Given the description of an element on the screen output the (x, y) to click on. 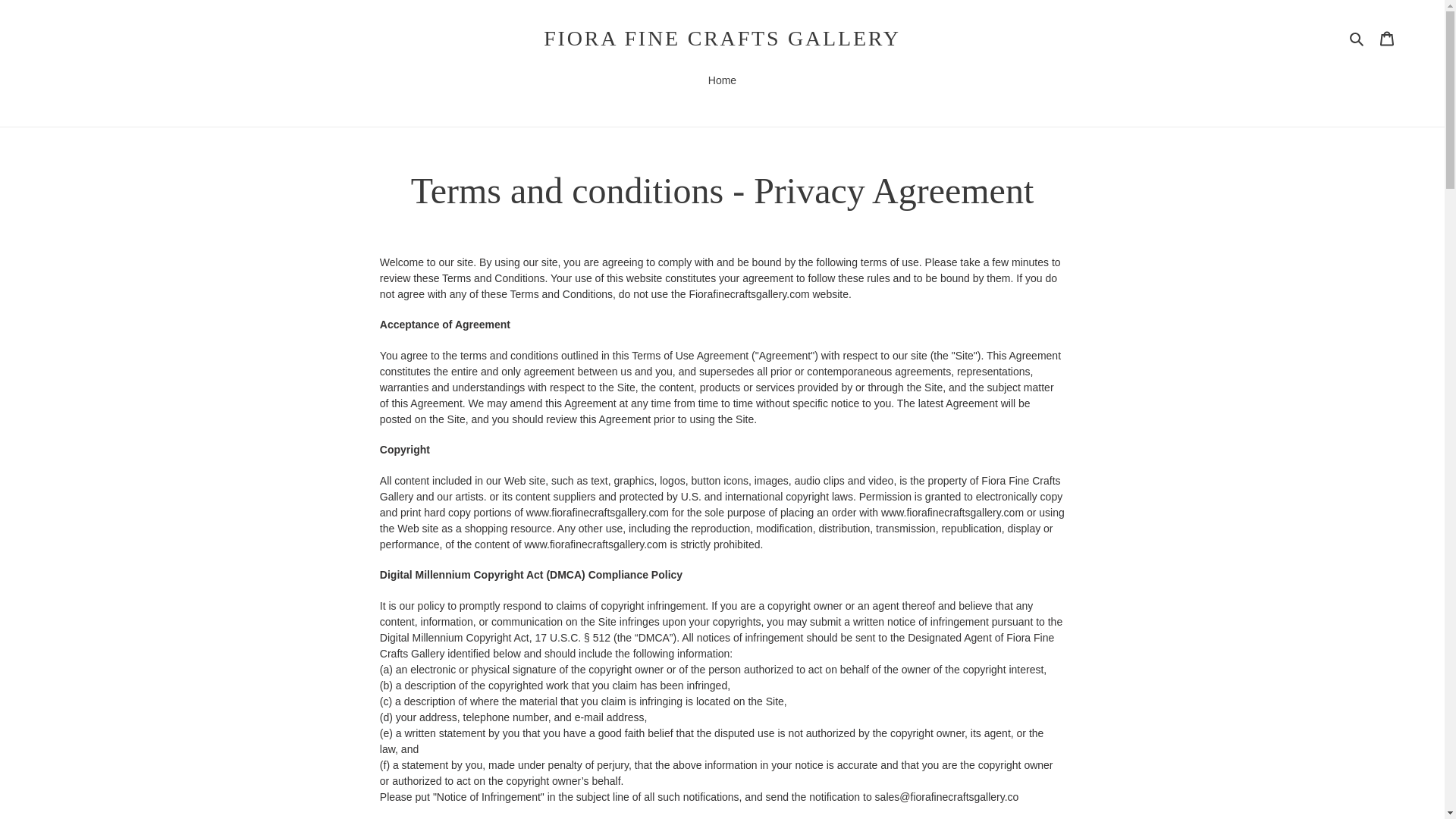
Search (1357, 37)
Home (722, 81)
Cart (1387, 38)
FIORA FINE CRAFTS GALLERY (722, 38)
